Given the description of an element on the screen output the (x, y) to click on. 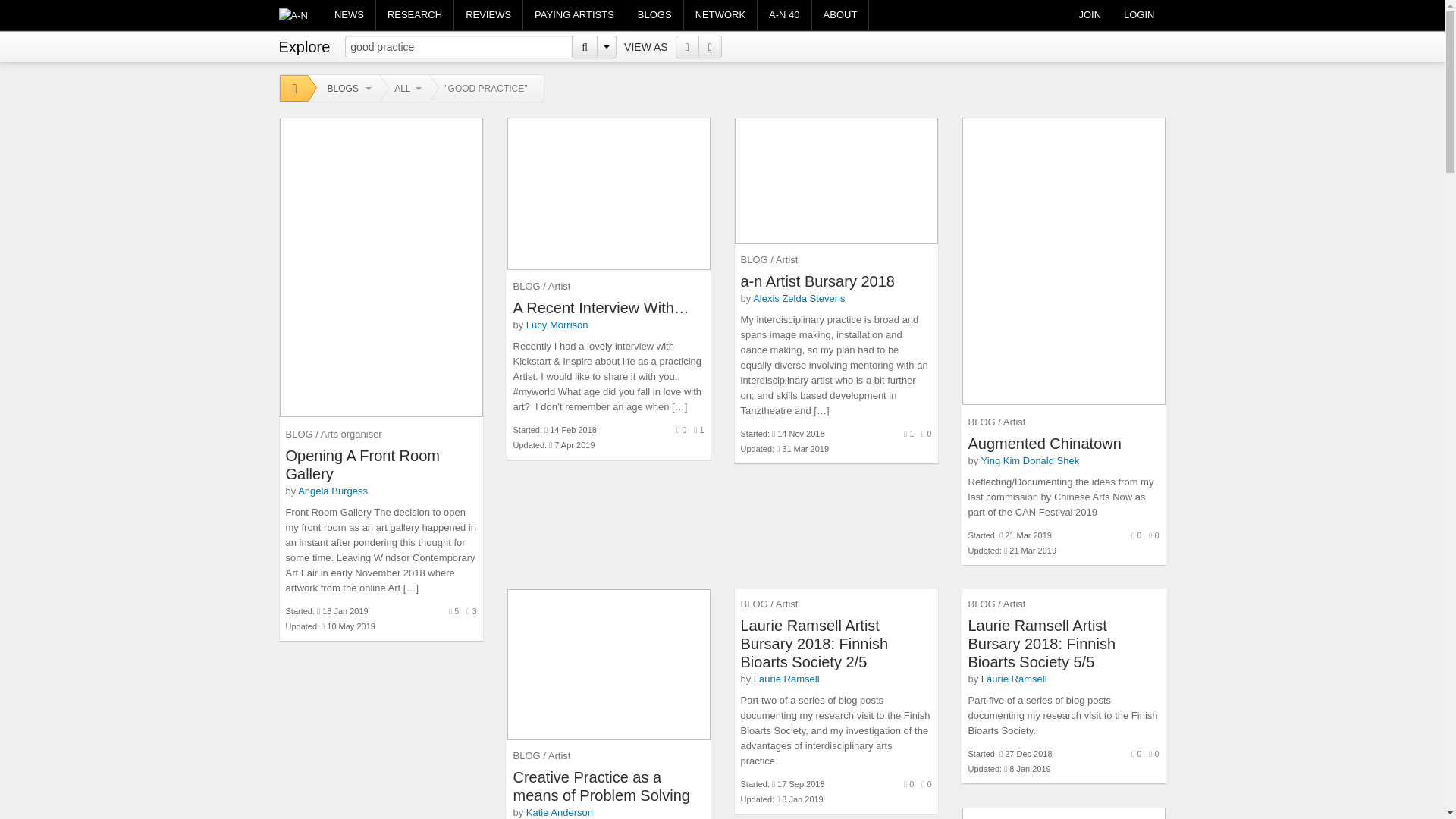
BLOGS (344, 88)
JOIN (1089, 15)
BLOGS (654, 15)
good practice (458, 47)
RESEARCH (413, 15)
A-N 40 (783, 15)
LOGIN (1139, 15)
good practice (458, 47)
Campaigns stories (574, 15)
Reviews (488, 15)
